Given the description of an element on the screen output the (x, y) to click on. 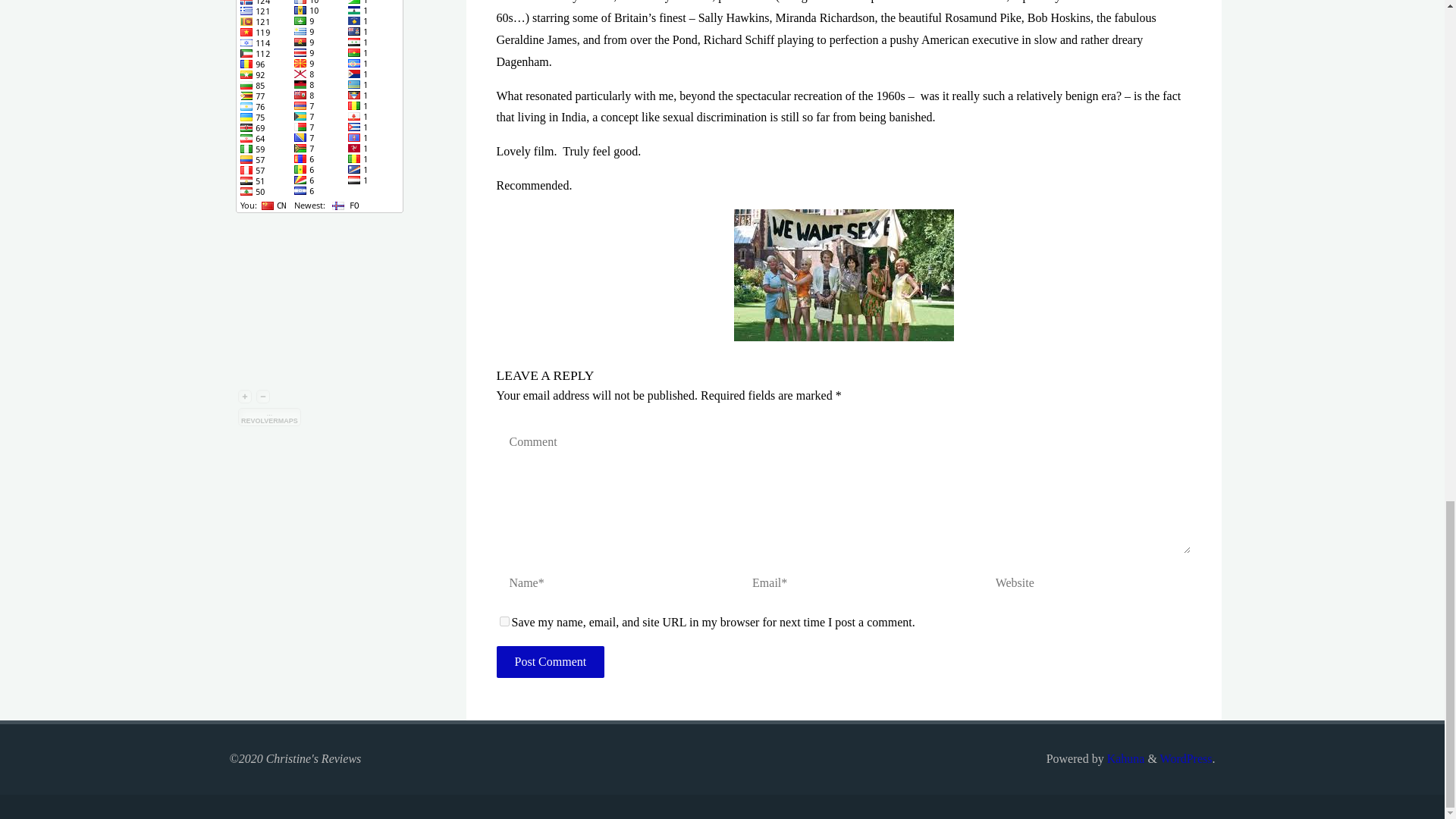
Post Comment (550, 662)
yes (503, 621)
Kahuna WordPress Theme by Cryout Creations (1123, 758)
Semantic Personal Publishing Platform (1186, 758)
